Given the description of an element on the screen output the (x, y) to click on. 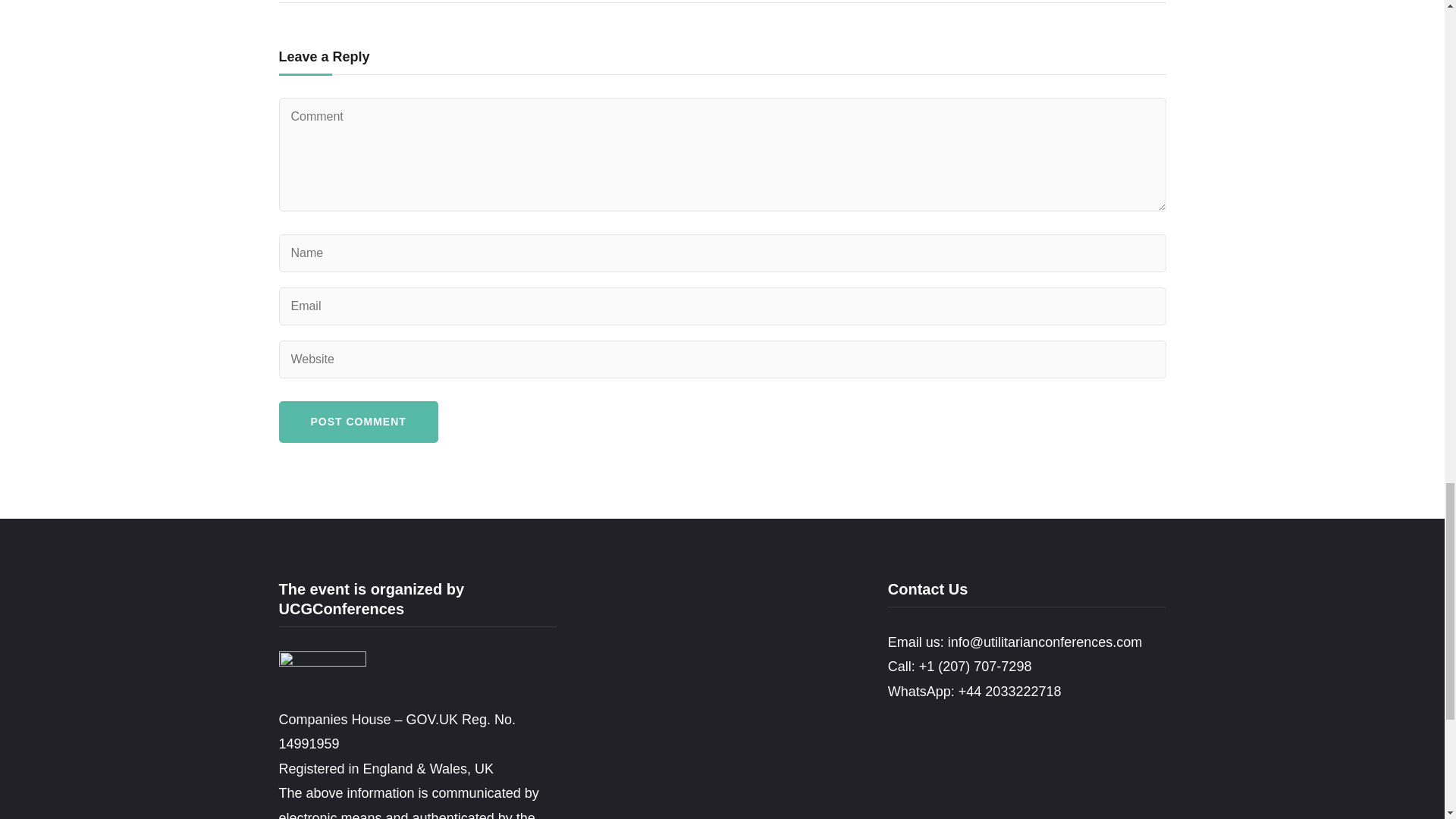
Post Comment (358, 422)
